Given the description of an element on the screen output the (x, y) to click on. 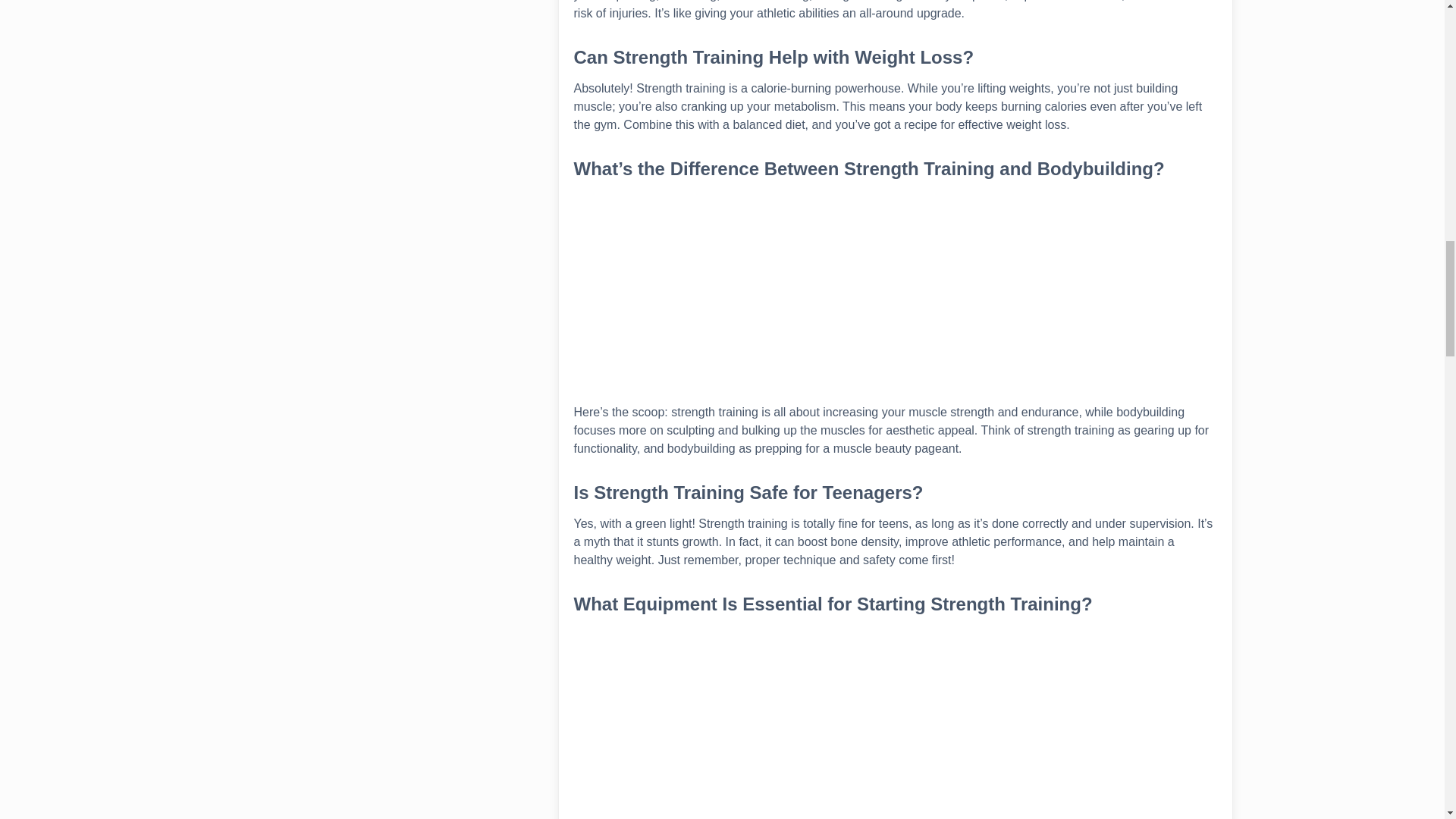
Advertisement (895, 722)
